Given the description of an element on the screen output the (x, y) to click on. 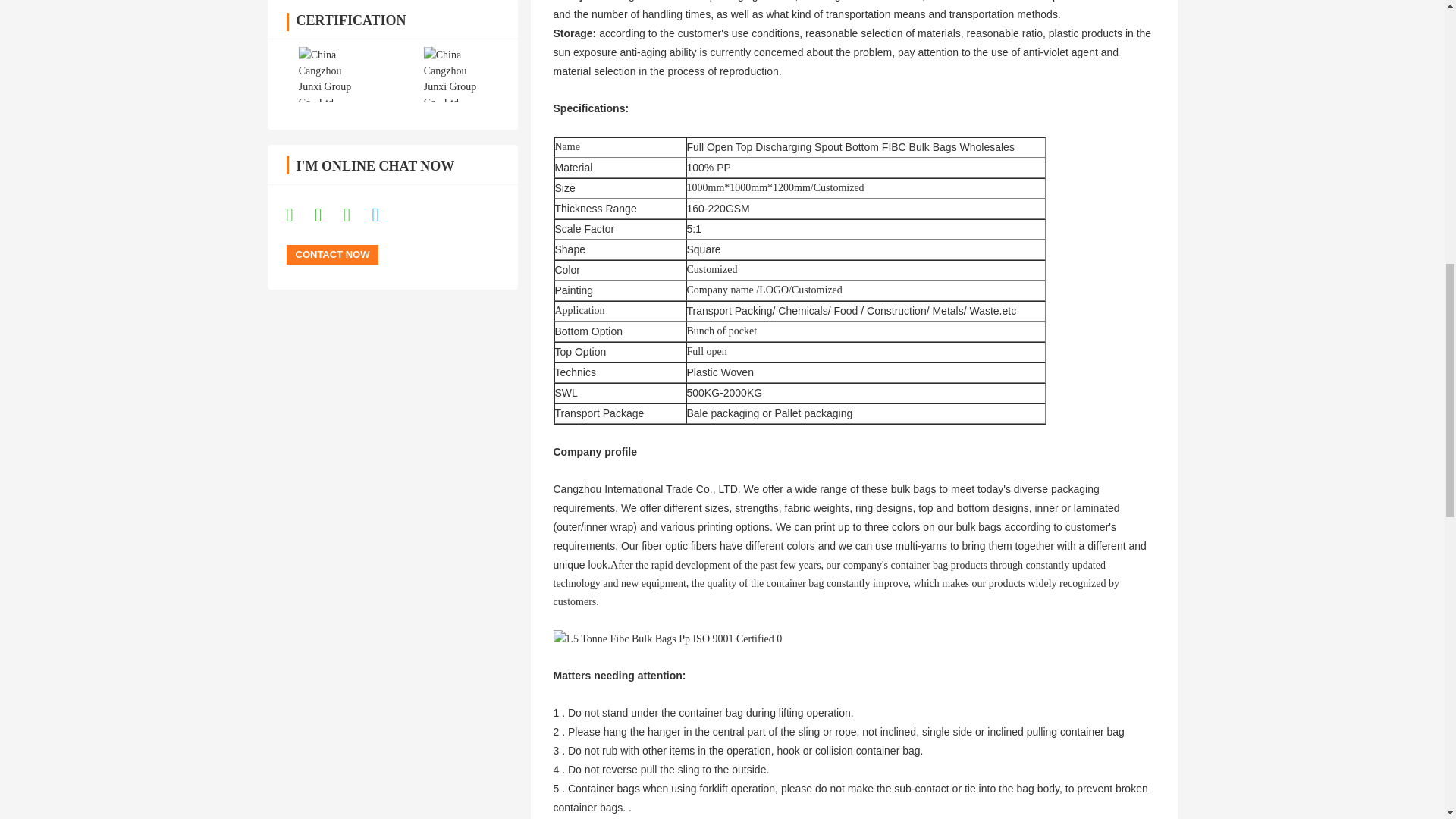
Contact Now (332, 254)
